Given the description of an element on the screen output the (x, y) to click on. 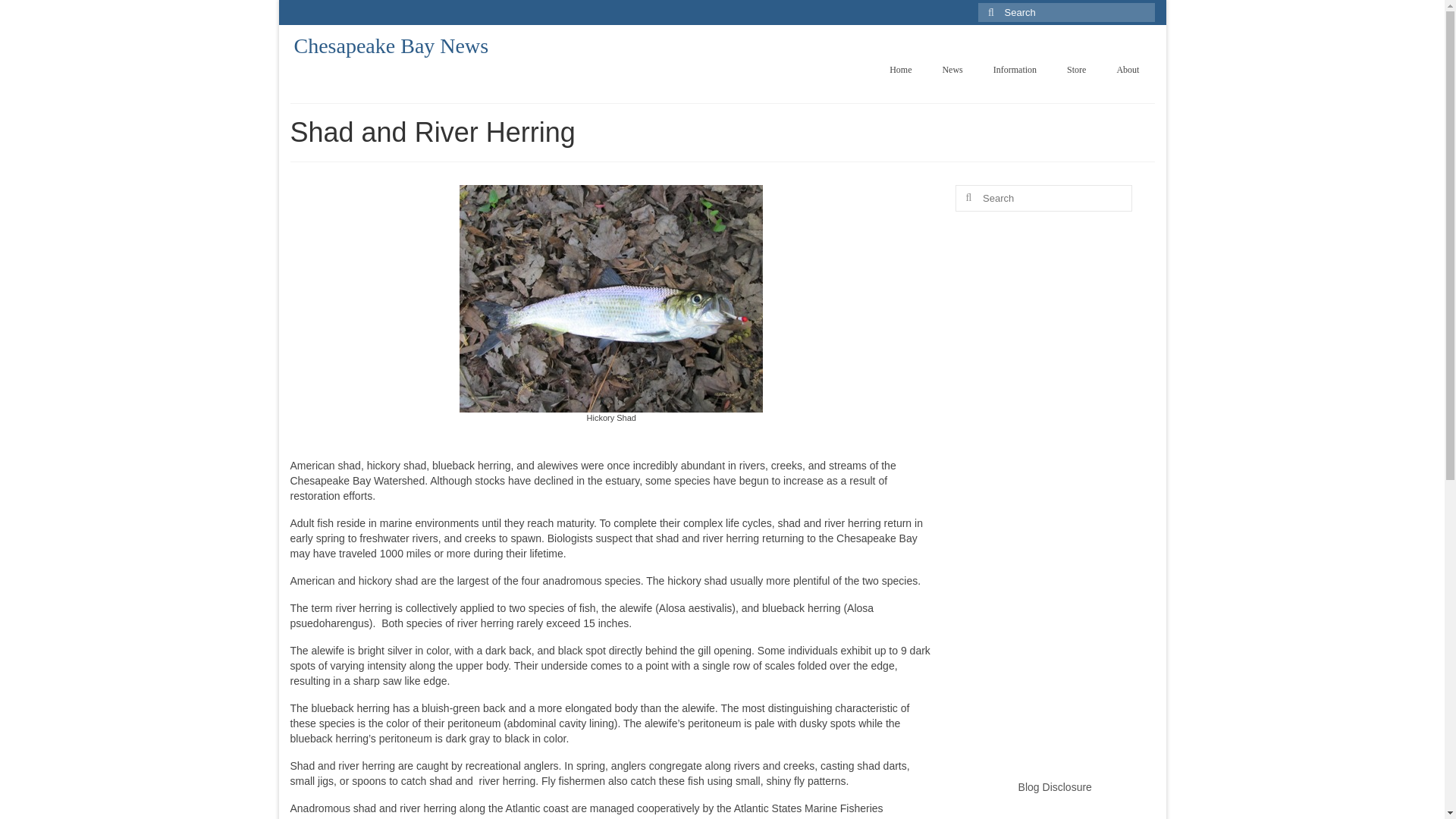
Store (1075, 69)
About (1127, 69)
Information (1014, 69)
Chesapeake Bay News (391, 45)
Home (900, 69)
hickory-shad-red-shad-dart (611, 298)
Blog Disclosure (1054, 787)
News (951, 69)
